Given the description of an element on the screen output the (x, y) to click on. 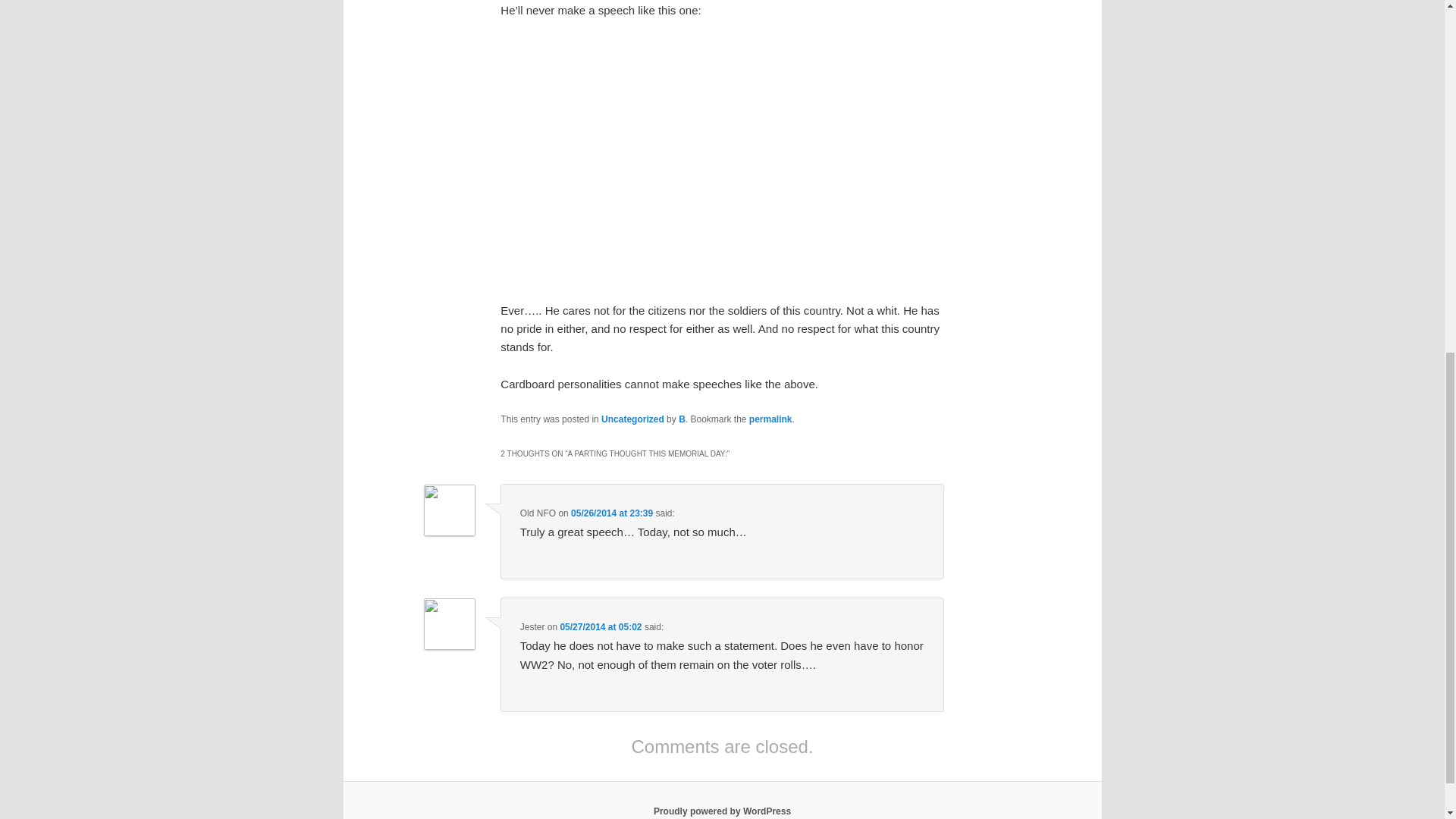
Proudly powered by WordPress (721, 810)
Semantic Personal Publishing Platform (721, 810)
permalink (770, 419)
Permalink to A parting thought this Memorial Day: (770, 419)
Uncategorized (632, 419)
